Given the description of an element on the screen output the (x, y) to click on. 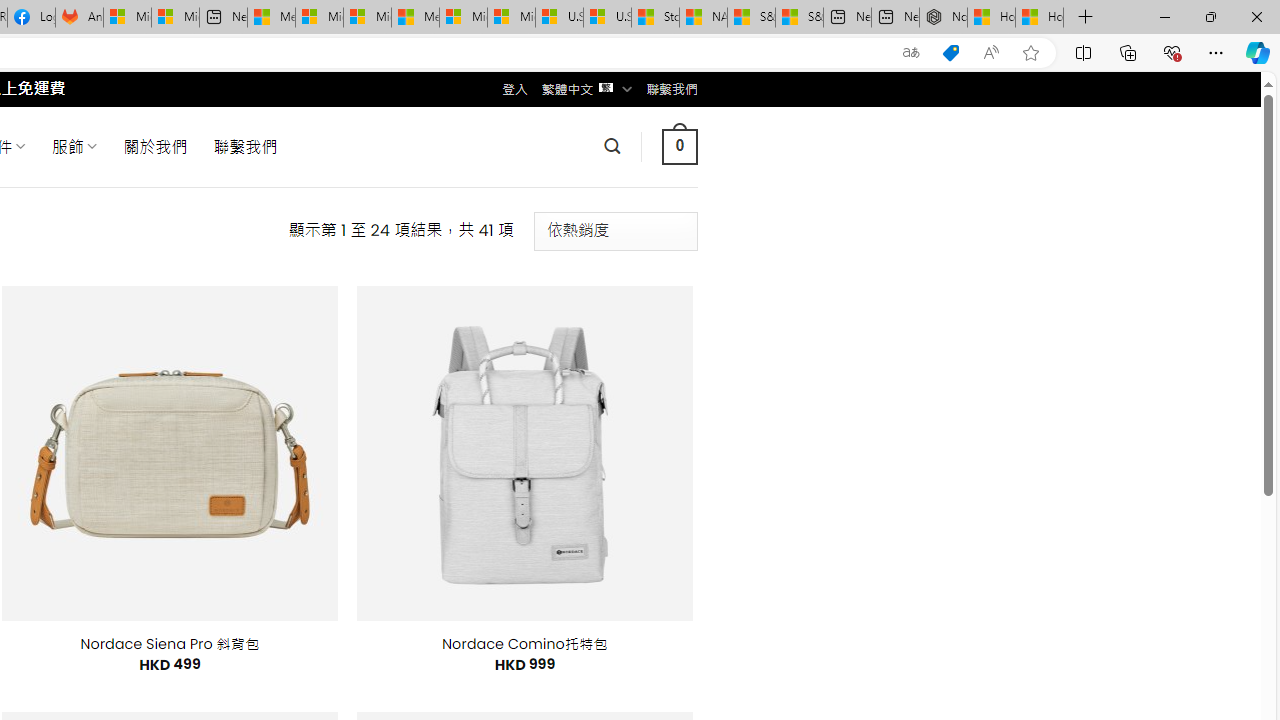
Microsoft account | Home (367, 17)
Show translate options (910, 53)
  0   (679, 146)
